Given the description of an element on the screen output the (x, y) to click on. 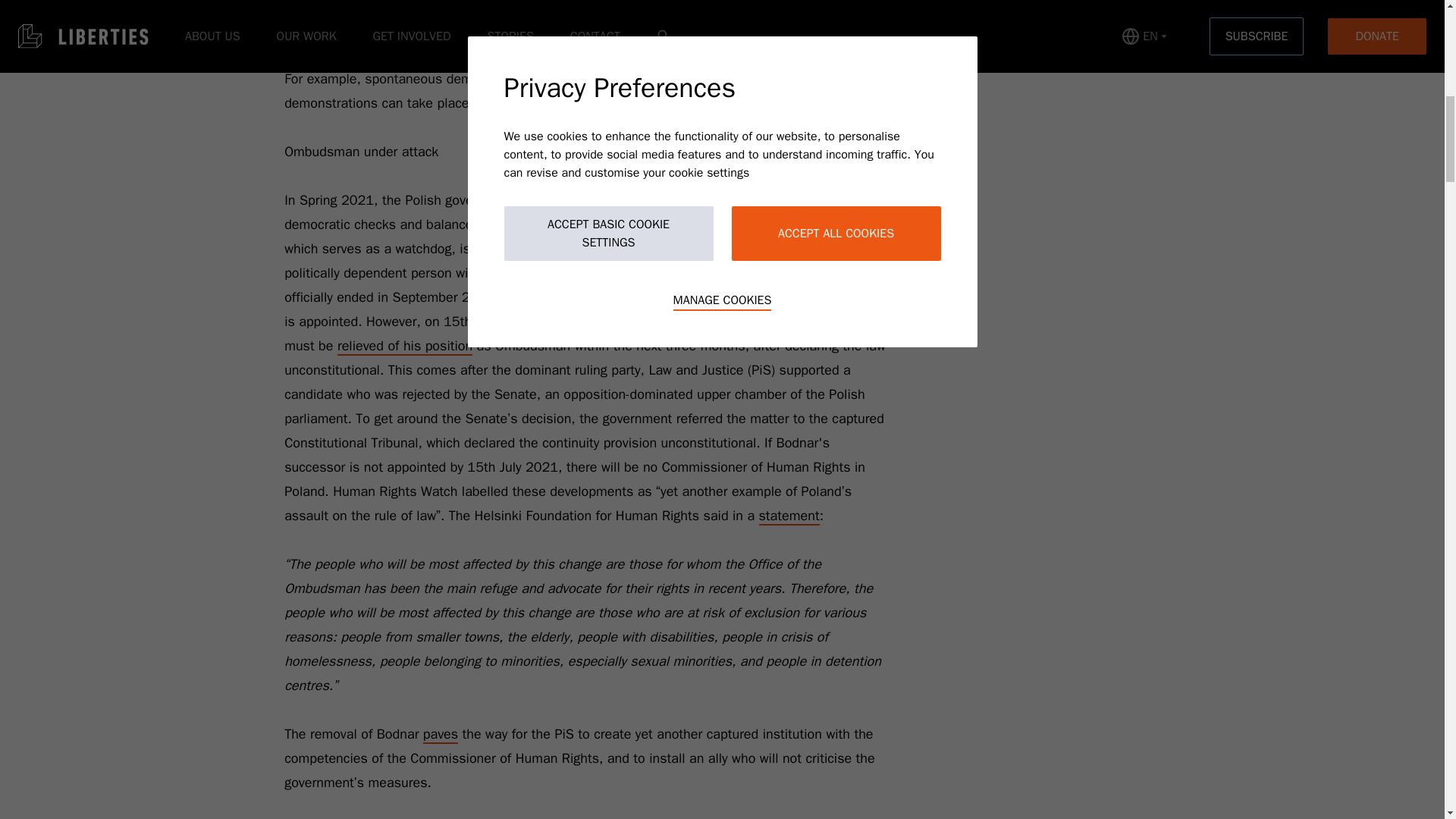
announced (740, 321)
relieved of his position (404, 346)
150 participants (715, 104)
statement (788, 515)
